Given the description of an element on the screen output the (x, y) to click on. 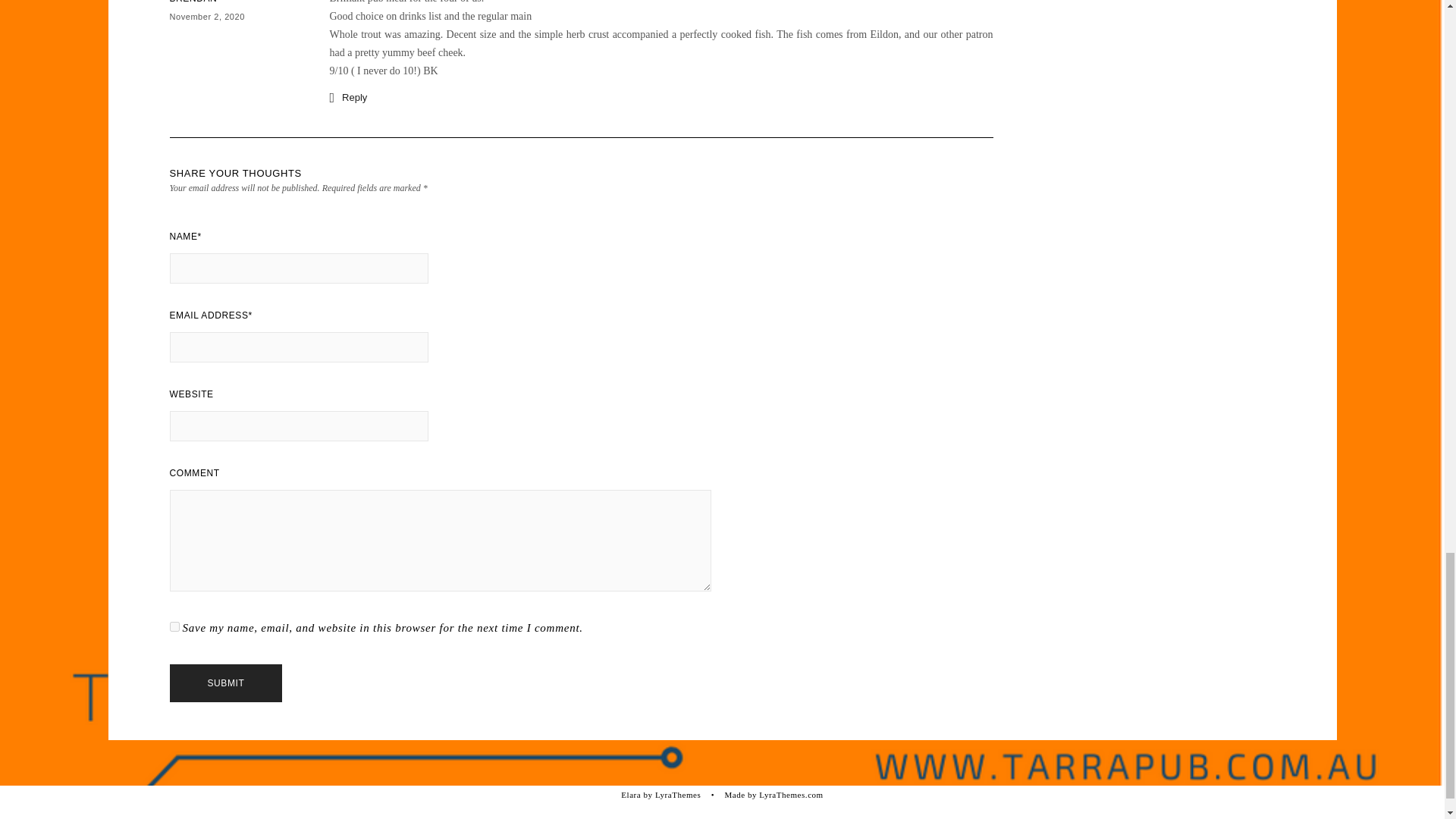
yes (174, 626)
November 2, 2020 (207, 16)
Elara (630, 794)
Submit (226, 682)
LyraThemes.com (790, 794)
Reply (347, 96)
Submit (226, 682)
